Given the description of an element on the screen output the (x, y) to click on. 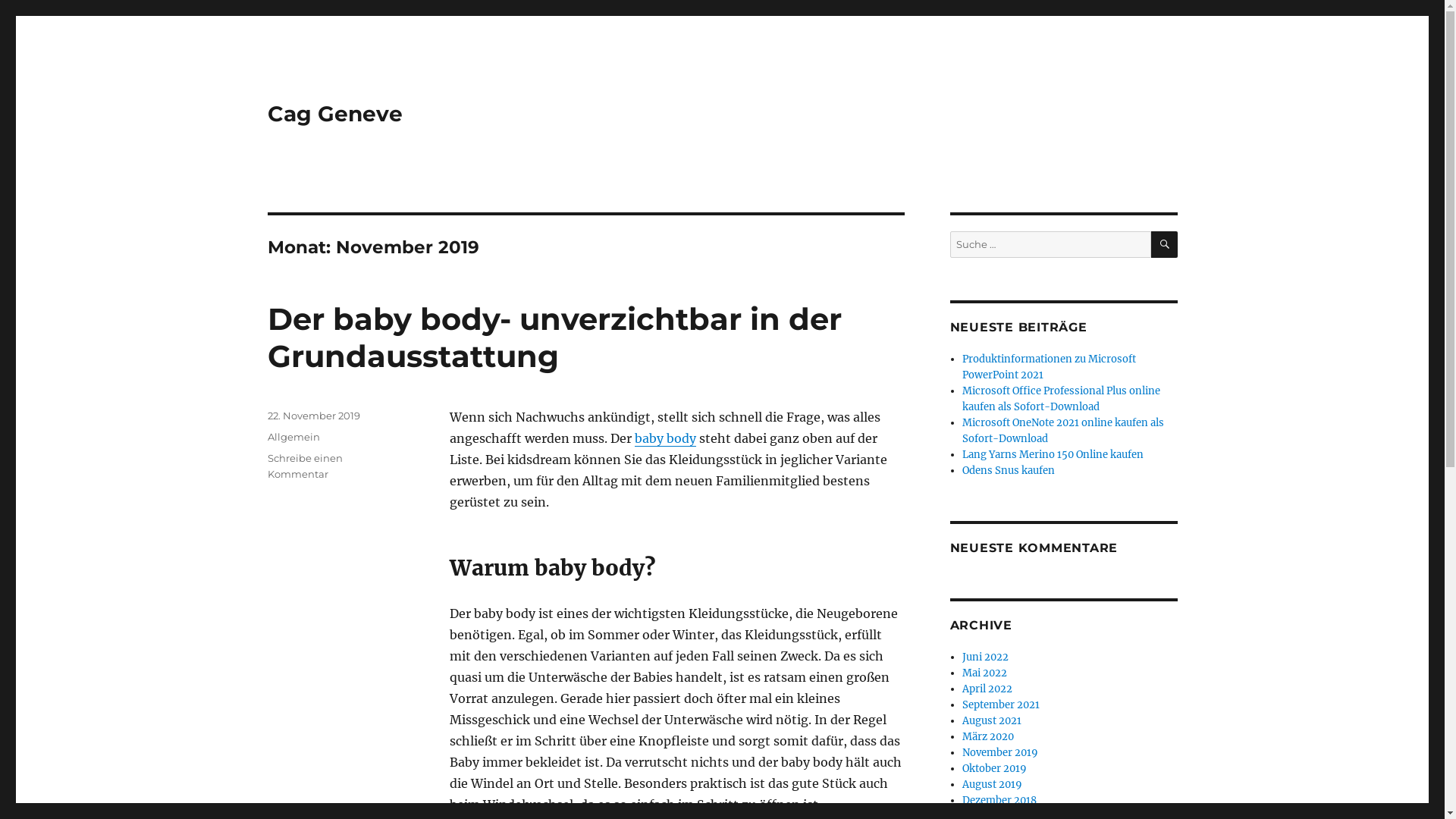
November 2019 Element type: text (1000, 752)
April 2022 Element type: text (987, 688)
Mai 2022 Element type: text (984, 672)
Der baby body- unverzichtbar in der Grundausstattung Element type: text (553, 337)
SUCHE Element type: text (1164, 244)
baby body Element type: text (664, 437)
September 2021 Element type: text (1000, 704)
Lang Yarns Merino 150 Online kaufen Element type: text (1052, 454)
Odens Snus kaufen Element type: text (1008, 470)
Cag Geneve Element type: text (333, 113)
Produktinformationen zu Microsoft PowerPoint 2021 Element type: text (1048, 366)
August 2019 Element type: text (992, 784)
22. November 2019 Element type: text (312, 415)
August 2021 Element type: text (991, 720)
Juni 2022 Element type: text (985, 656)
Allgemein Element type: text (292, 436)
Oktober 2019 Element type: text (994, 768)
Dezember 2018 Element type: text (999, 799)
Microsoft OneNote 2021 online kaufen als Sofort-Download Element type: text (1063, 430)
